Given the description of an element on the screen output the (x, y) to click on. 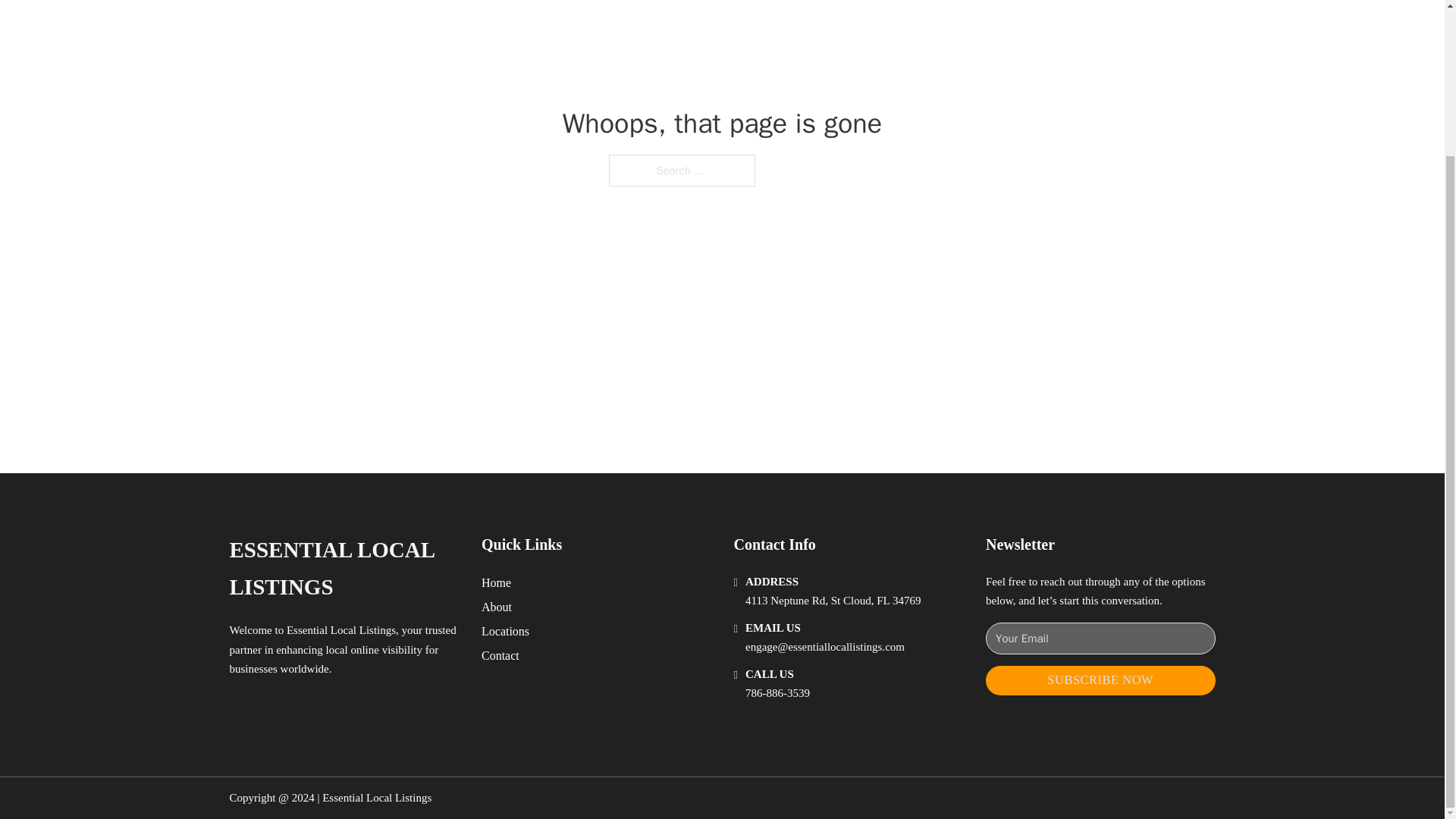
Contact (500, 655)
Home (496, 582)
About (496, 607)
786-886-3539 (777, 693)
ESSENTIAL LOCAL LISTINGS (343, 568)
Locations (505, 630)
SUBSCRIBE NOW (1100, 680)
